Given the description of an element on the screen output the (x, y) to click on. 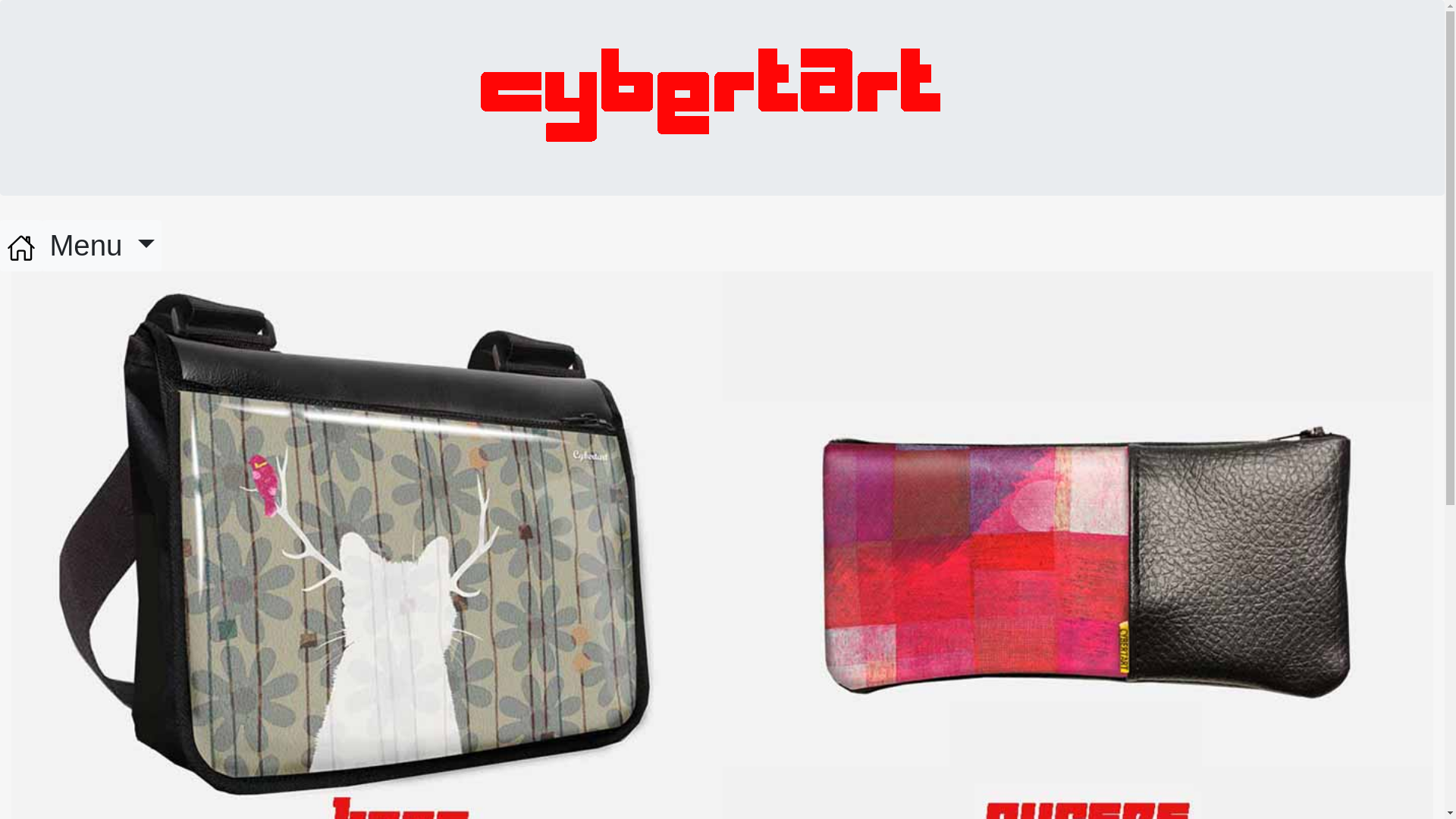
Menu Element type: text (101, 245)
